Given the description of an element on the screen output the (x, y) to click on. 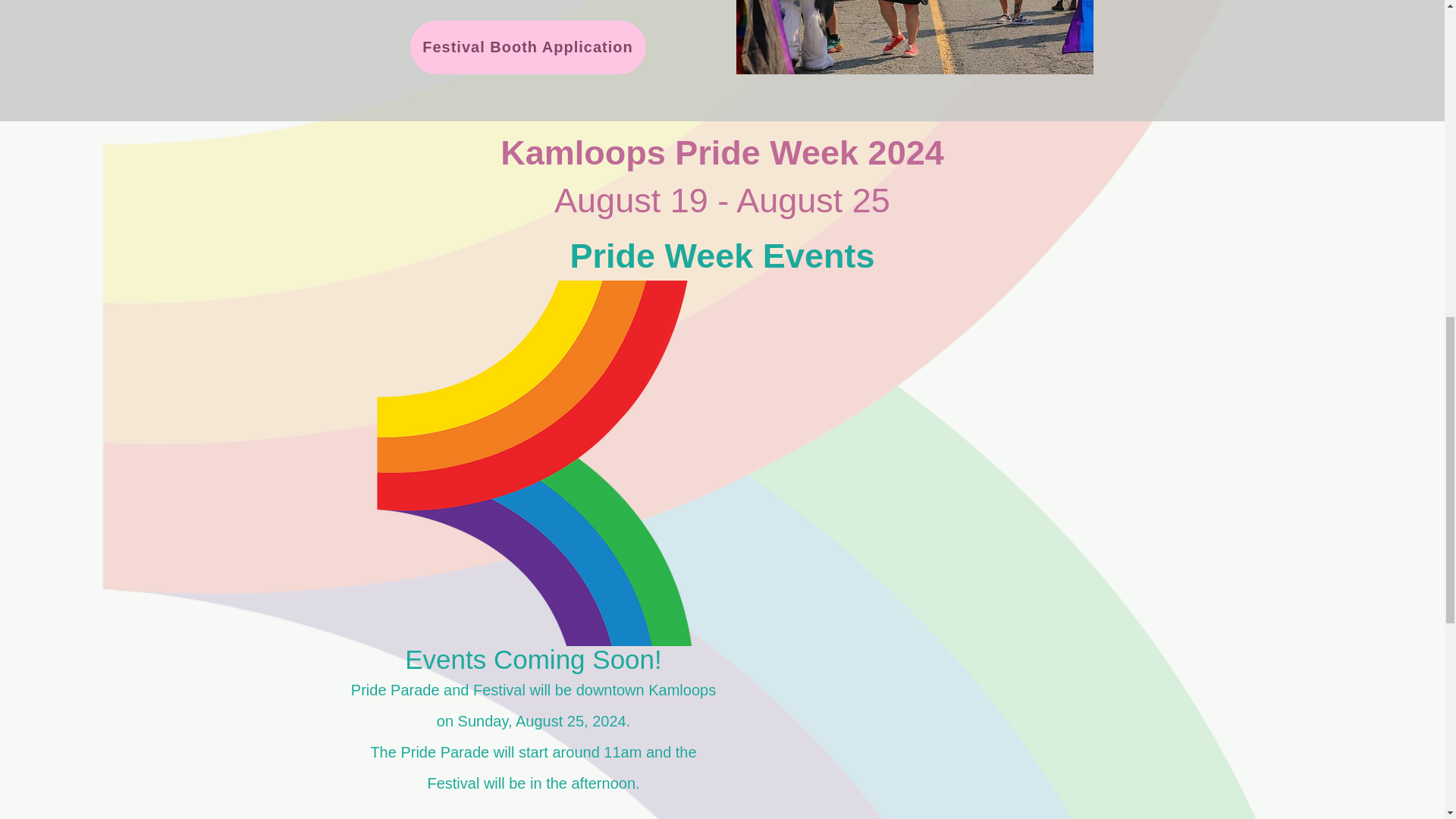
Festival Booth Application (527, 47)
